Given the description of an element on the screen output the (x, y) to click on. 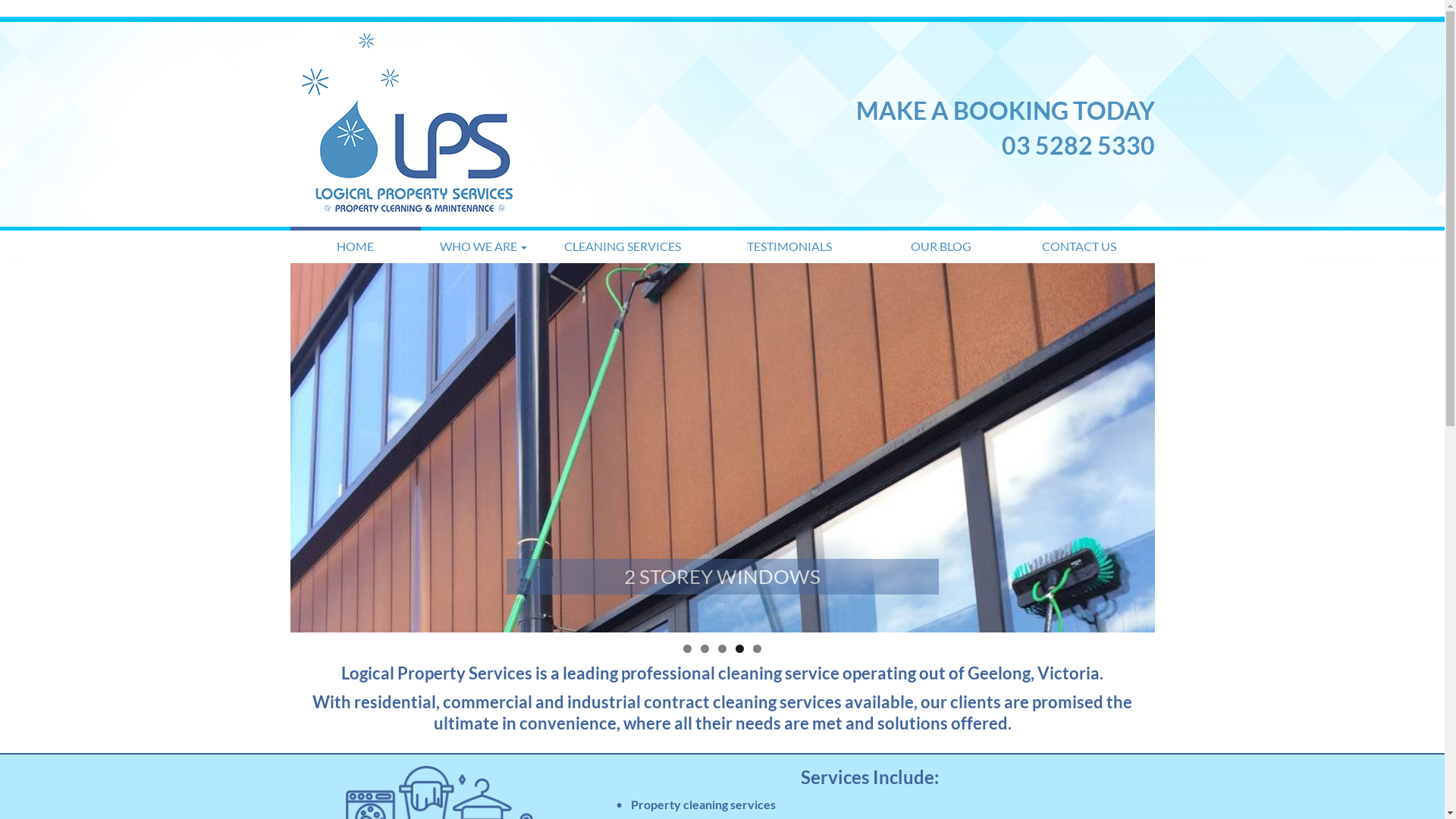
High window cleaning Element type: hover (721, 447)
OUR BLOG Element type: text (941, 246)
CLEANING SERVICES Element type: text (623, 246)
TESTIMONIALS Element type: text (788, 246)
2 Element type: text (704, 648)
WHO WE ARE Element type: text (483, 246)
1 Element type: text (687, 648)
CONTACT US Element type: text (1079, 246)
HOME Element type: text (354, 246)
5 Element type: text (757, 648)
03 5282 5330 Element type: text (1077, 145)
4 Element type: text (739, 648)
3 Element type: text (722, 648)
